Given the description of an element on the screen output the (x, y) to click on. 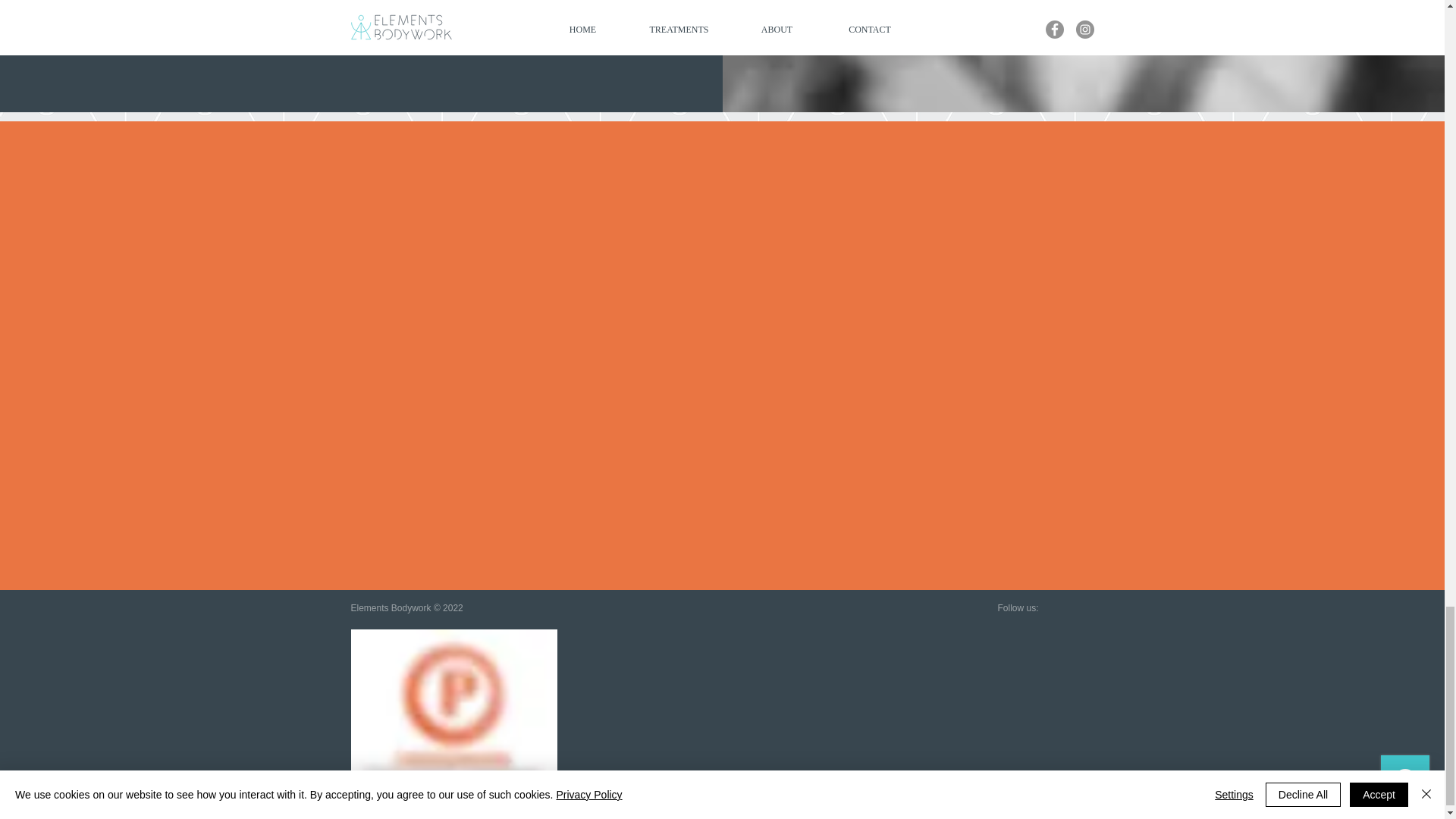
783bc82b-d504-42e0-a9a9-4153e7d2ef52.jpg (453, 724)
